Given the description of an element on the screen output the (x, y) to click on. 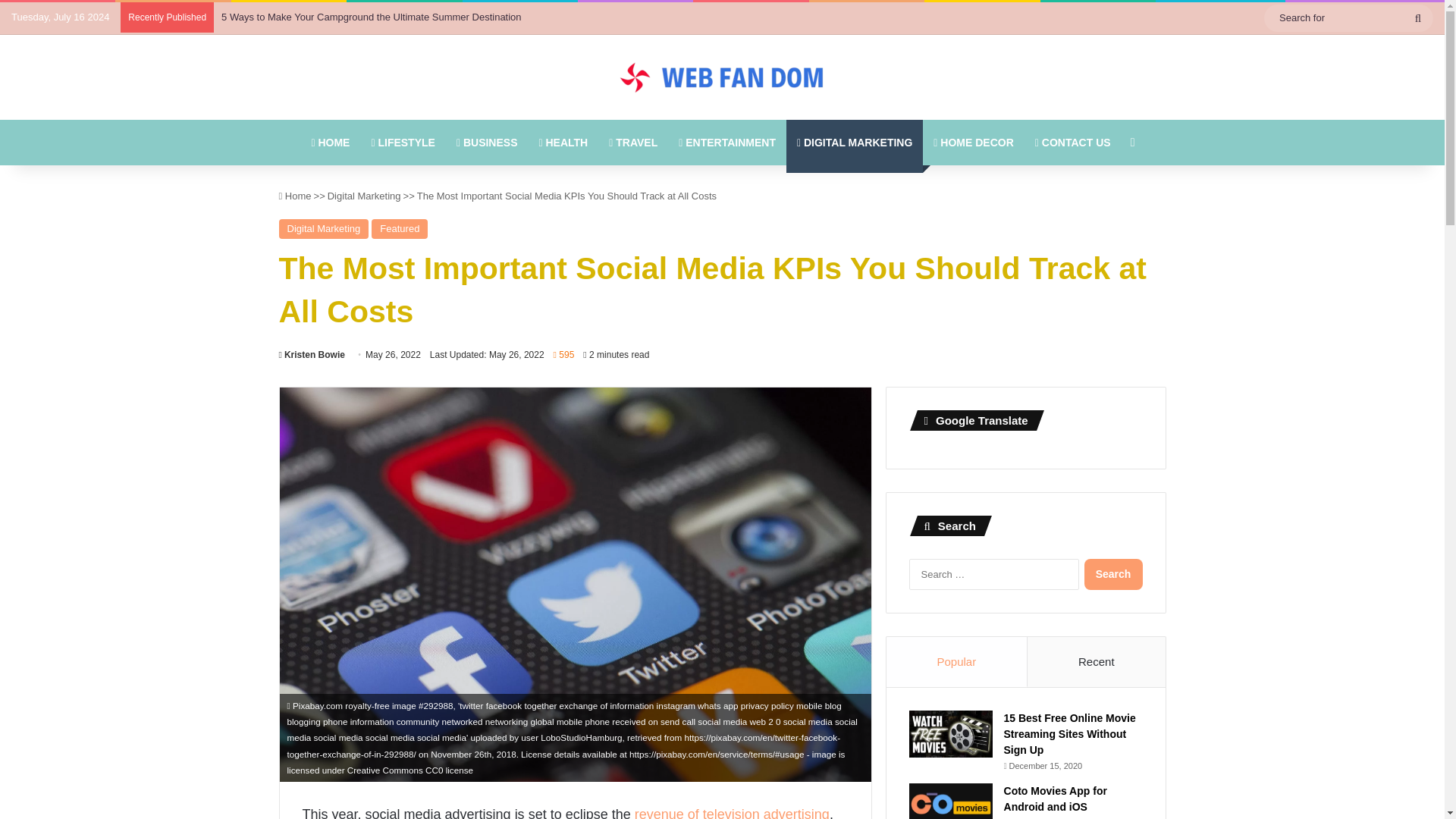
BUSINESS (486, 142)
LIFESTYLE (402, 142)
Digital Marketing (364, 195)
Home (295, 195)
HEALTH (562, 142)
Search for (1347, 17)
TRAVEL (633, 142)
Search (1113, 573)
Switch skin (1132, 142)
HOME (329, 142)
Kristen Bowie (312, 354)
CONTACT US (1073, 142)
Featured (399, 229)
revenue of television advertising (731, 812)
Digital Marketing (324, 229)
